Given the description of an element on the screen output the (x, y) to click on. 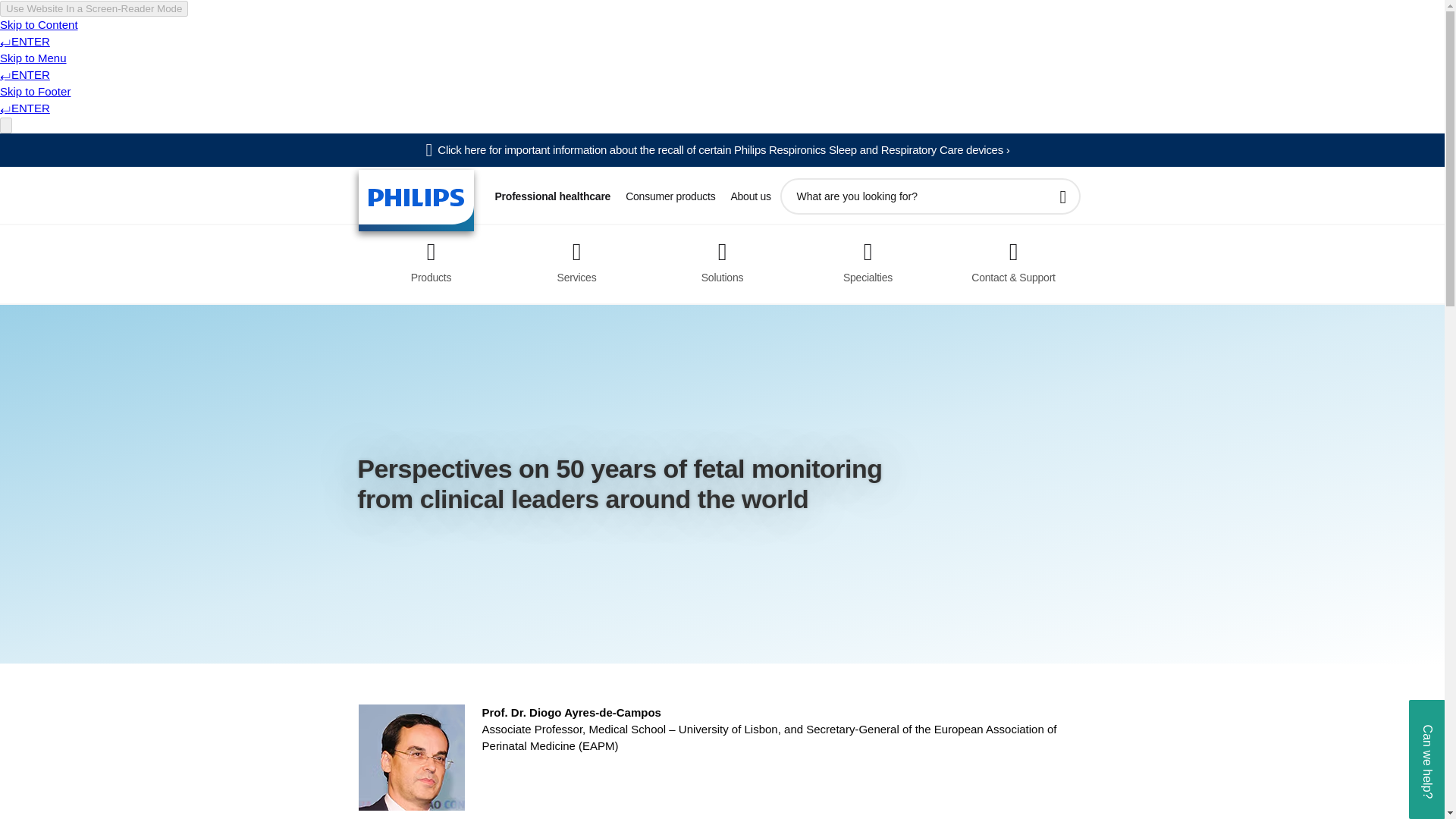
Professional healthcare (551, 196)
Products (430, 257)
Services (576, 257)
Home (415, 199)
